Given the description of an element on the screen output the (x, y) to click on. 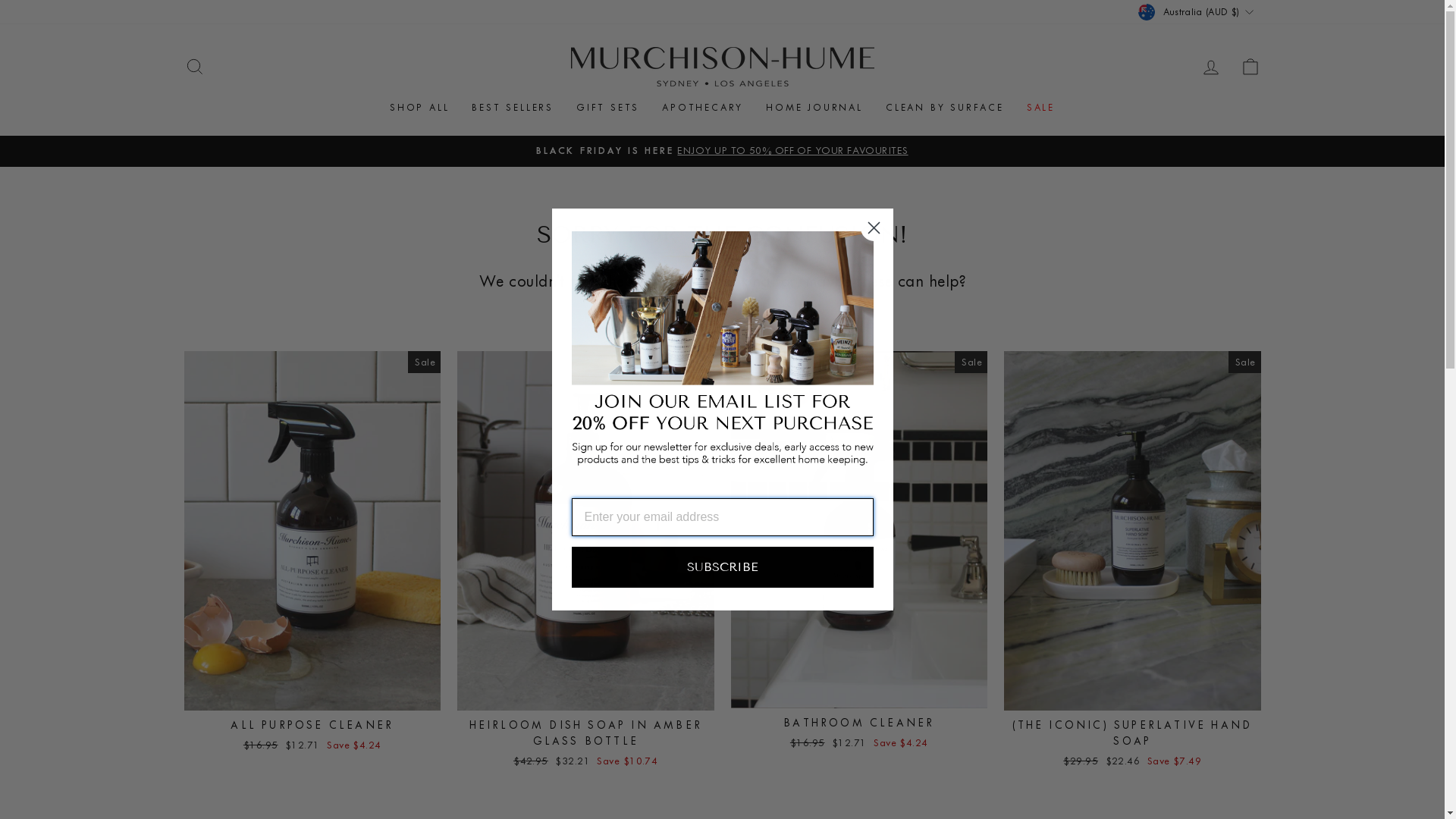
SEARCH Element type: text (193, 66)
CART Element type: text (1249, 66)
CLEAN BY SURFACE Element type: text (944, 107)
SALE Element type: text (1040, 107)
Australia (AUD $) Element type: text (1197, 12)
HOME JOURNAL Element type: text (814, 107)
GIFT SETS Element type: text (607, 107)
LOG IN Element type: text (1210, 66)
SHOP ALL Element type: text (419, 107)
Submit Element type: text (27, 16)
SUBSCRIBE Element type: text (722, 566)
APOTHECARY Element type: text (702, 107)
BEST SELLERS Element type: text (512, 107)
BLACK FRIDAY IS HEREENJOY UP TO 50% OFF OF YOUR FAVOURITES Element type: text (722, 150)
